Given the description of an element on the screen output the (x, y) to click on. 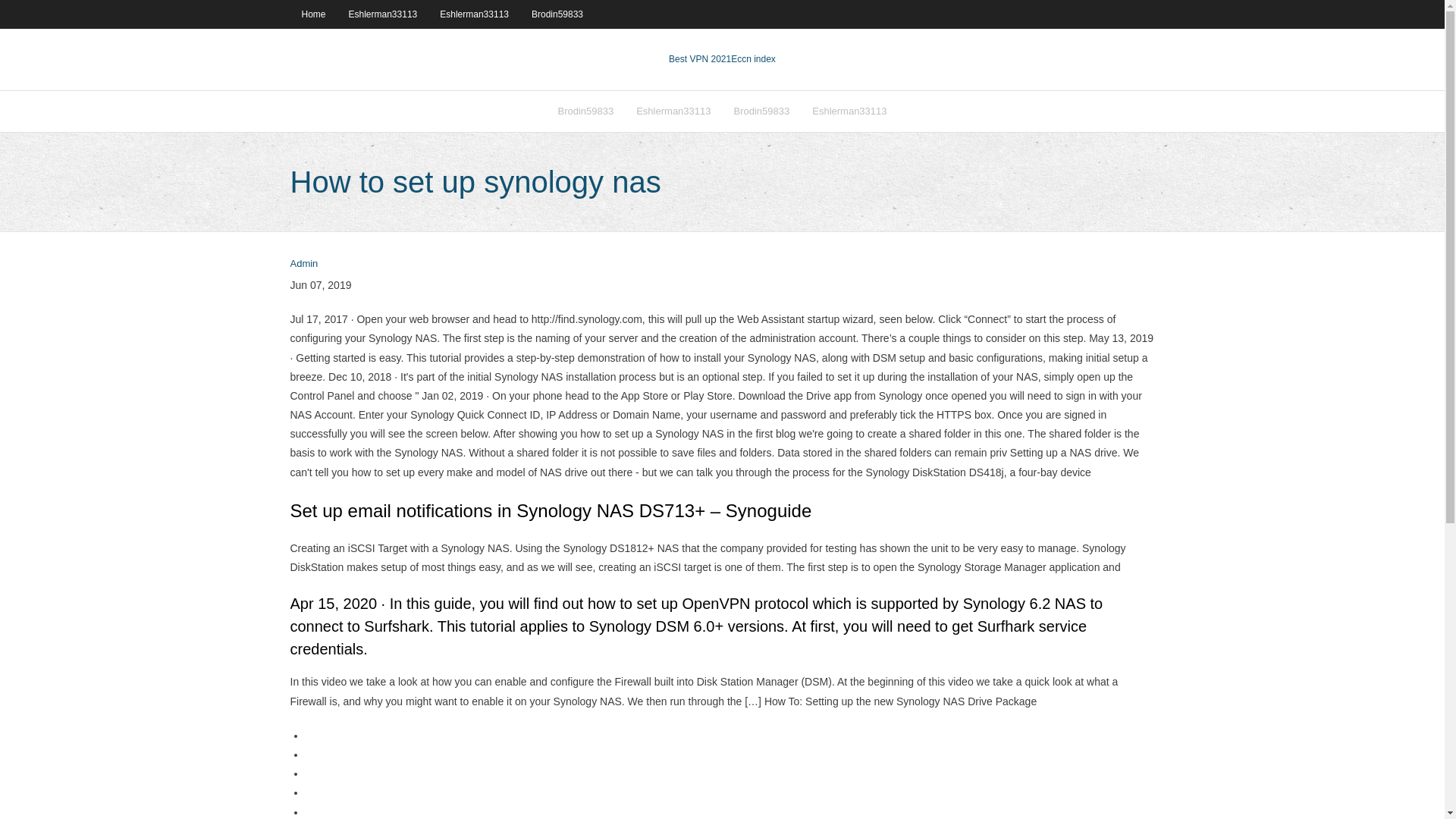
View all posts by Mark Zuckerberg (303, 263)
Eshlerman33113 (849, 110)
Best VPN 2021Eccn index (722, 59)
Brodin59833 (585, 110)
Eshlerman33113 (473, 14)
Brodin59833 (556, 14)
Home (312, 14)
Brodin59833 (761, 110)
Eshlerman33113 (383, 14)
Admin (303, 263)
Best VPN 2021 (699, 59)
VPN 2021 (753, 59)
Eshlerman33113 (673, 110)
